Given the description of an element on the screen output the (x, y) to click on. 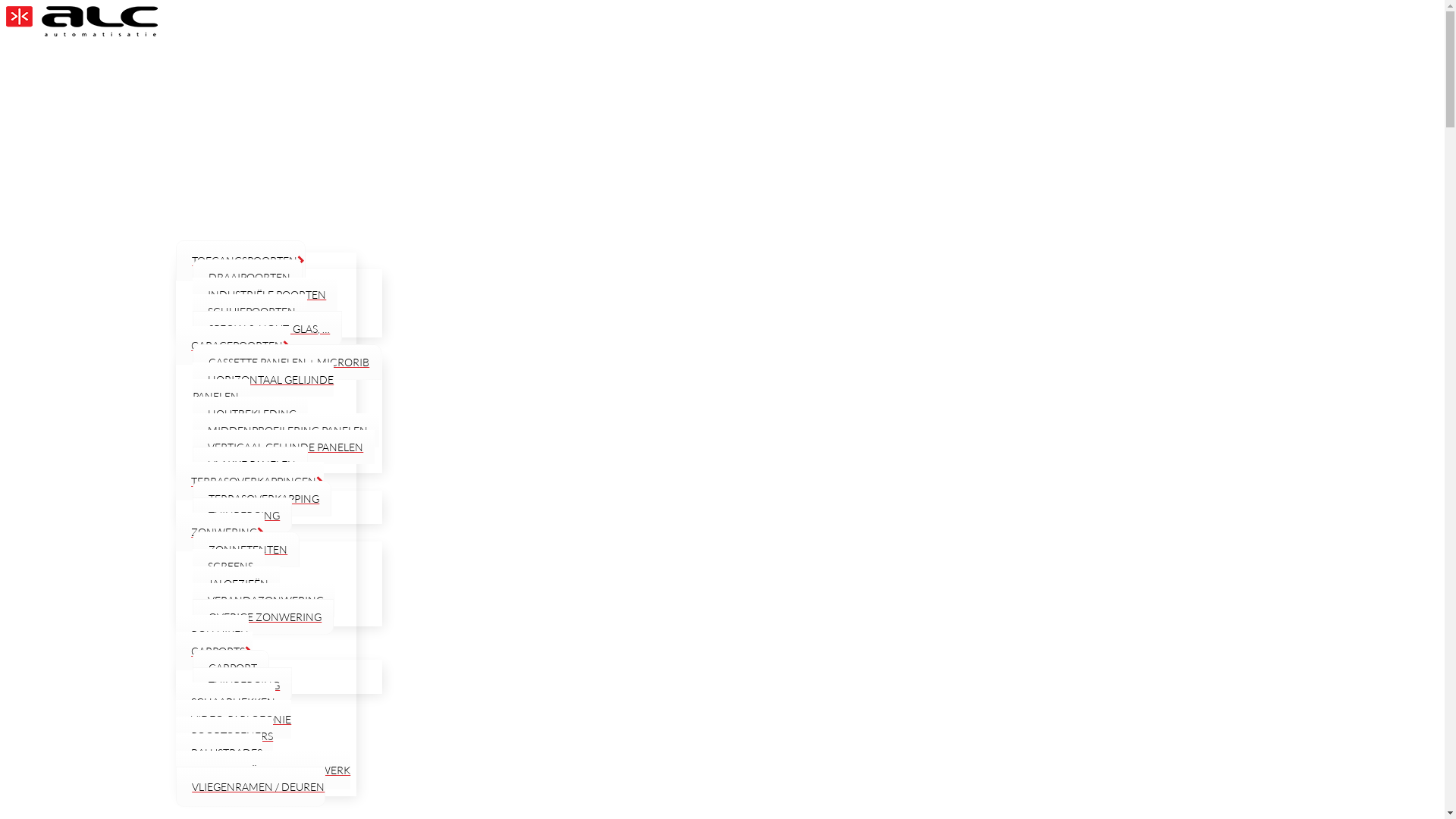
ZONWERING Element type: text (219, 531)
MIDDENPROFILERING PANELEN Element type: text (285, 430)
SCHAARHEKKEN Element type: text (225, 701)
Over ons Element type: text (249, 112)
CARPORT Element type: text (230, 667)
ZONNETENTEN Element type: text (245, 549)
TUINBERGING Element type: text (241, 684)
VLAKKE PANELEN Element type: text (249, 464)
DRAAIPOORTEN Element type: text (247, 276)
POORTOPENERS Element type: text (224, 735)
CARPORTS Element type: text (213, 650)
Skip to content Element type: text (5, 5)
HOUTBEKLEDING Element type: text (249, 413)
ROLLUIKEN Element type: text (211, 634)
TUINBERGING Element type: text (241, 515)
VIDEO-PARLOFONIE Element type: text (233, 718)
HORIZONTAAL GELIJNDE PANELEN Element type: text (262, 387)
SCHUIFPOORTEN Element type: text (249, 311)
SCREENS Element type: text (228, 566)
CASSETTE PANELEN + MICRORIB Element type: text (286, 361)
TOEGANGSPOORTEN Element type: text (240, 260)
Producten Element type: text (249, 205)
TERRASOVERKAPPINGEN Element type: text (249, 480)
Diensten Element type: text (249, 153)
VERANDAZONWERING Element type: text (263, 600)
VERTICAAL GELIJNDE PANELEN Element type: text (283, 446)
GARAGEPOORTEN Element type: text (232, 345)
OVERIGE ZONWERING Element type: text (262, 616)
BALUSTRADES Element type: text (218, 752)
TERRASOVERKAPPING Element type: text (261, 498)
VLIEGENRAMEN / DEUREN Element type: text (250, 786)
